Given the description of an element on the screen output the (x, y) to click on. 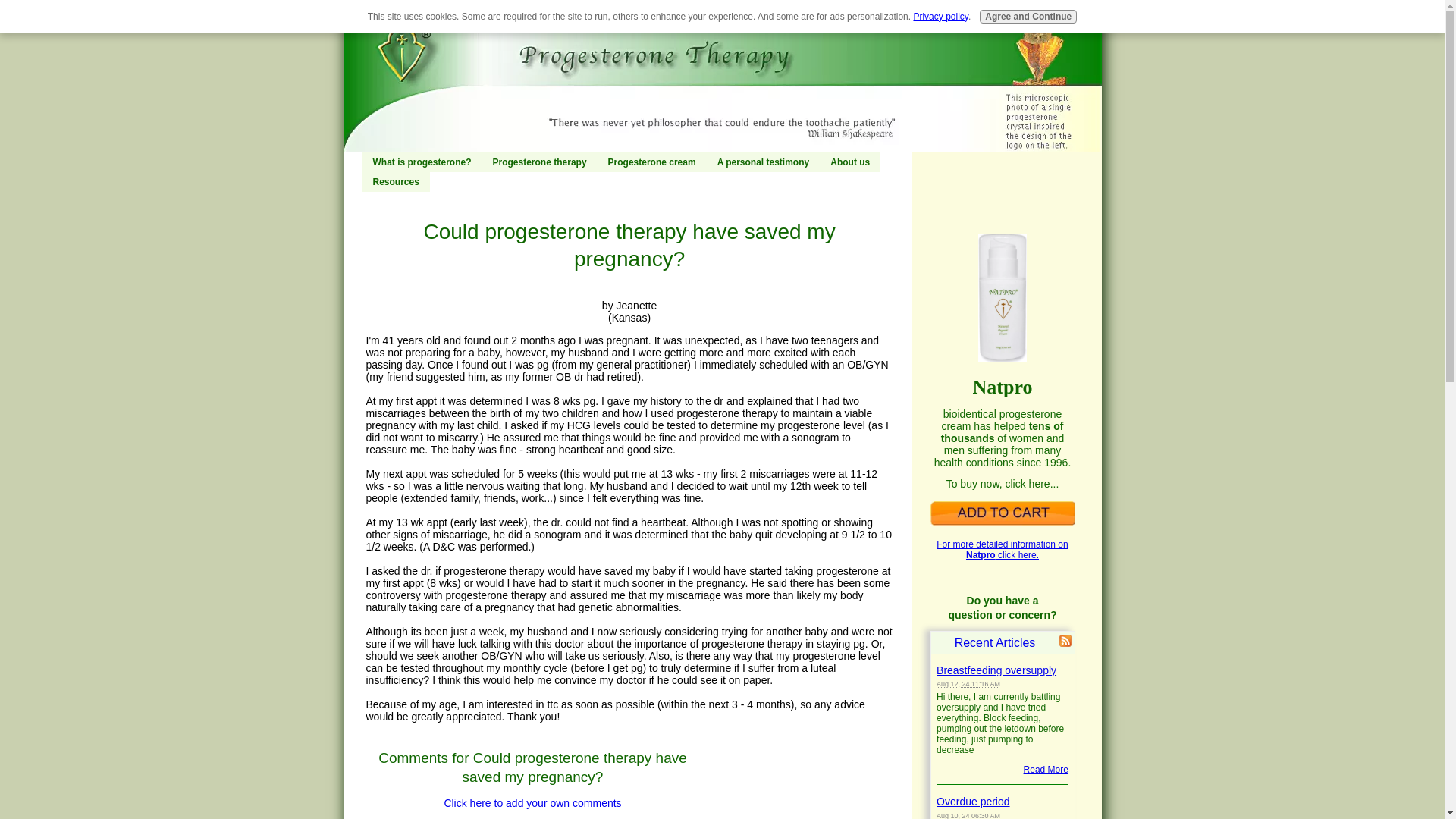
Natpro progesterone cream (1002, 513)
2024-08-12T11:16:49-0400 (968, 683)
2024-08-10T06:30:31-0400 (968, 815)
